Given the description of an element on the screen output the (x, y) to click on. 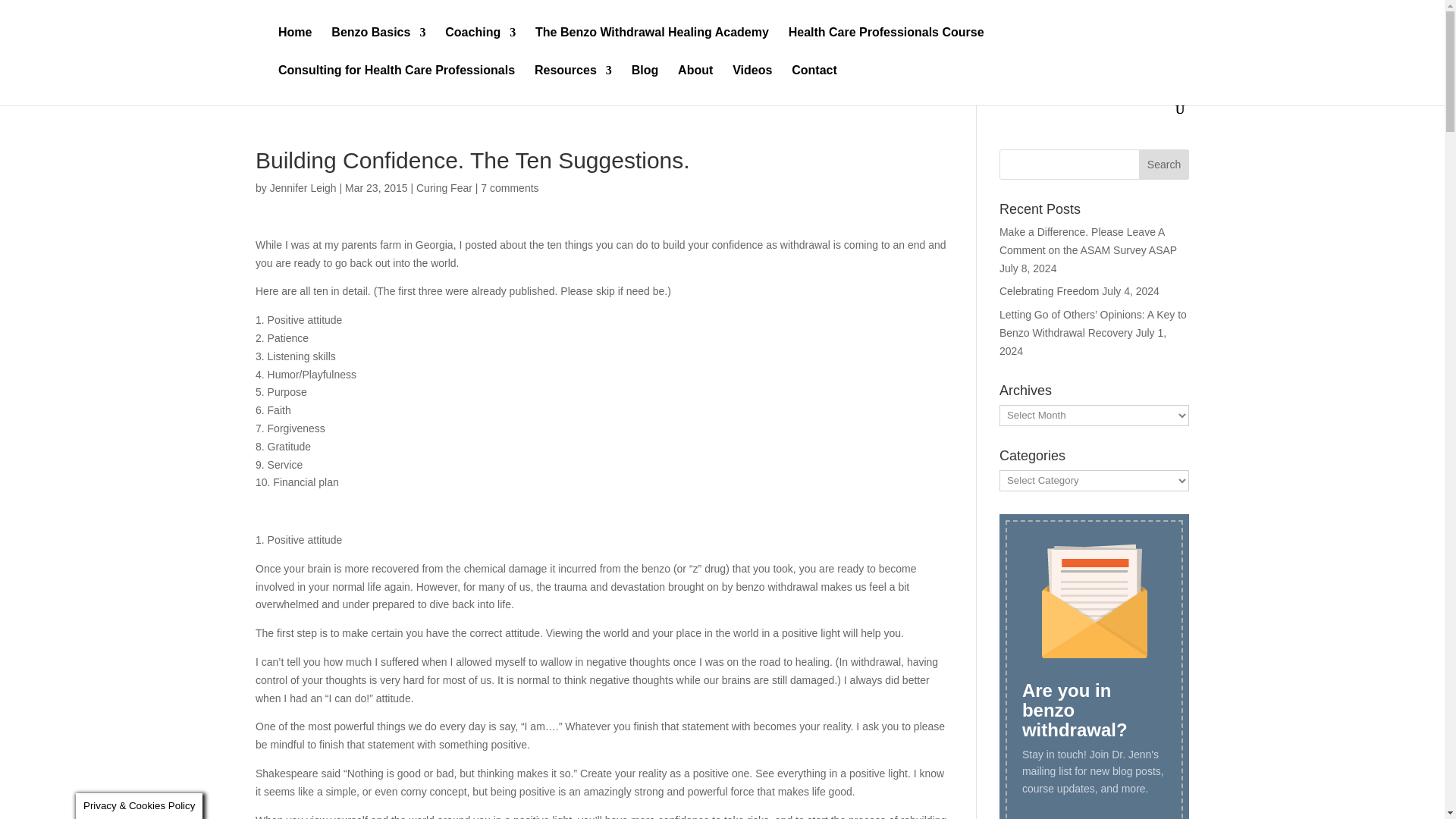
Contact (814, 84)
Consulting for Health Care Professionals (396, 84)
Posts by Jennifer Leigh (302, 187)
Resources (572, 84)
Coaching (480, 46)
Health Care Professionals Course (886, 46)
Videos (751, 84)
Benzo Basics (378, 46)
About (695, 84)
Search (1163, 164)
The Benzo Withdrawal Healing Academy (651, 46)
